Given the description of an element on the screen output the (x, y) to click on. 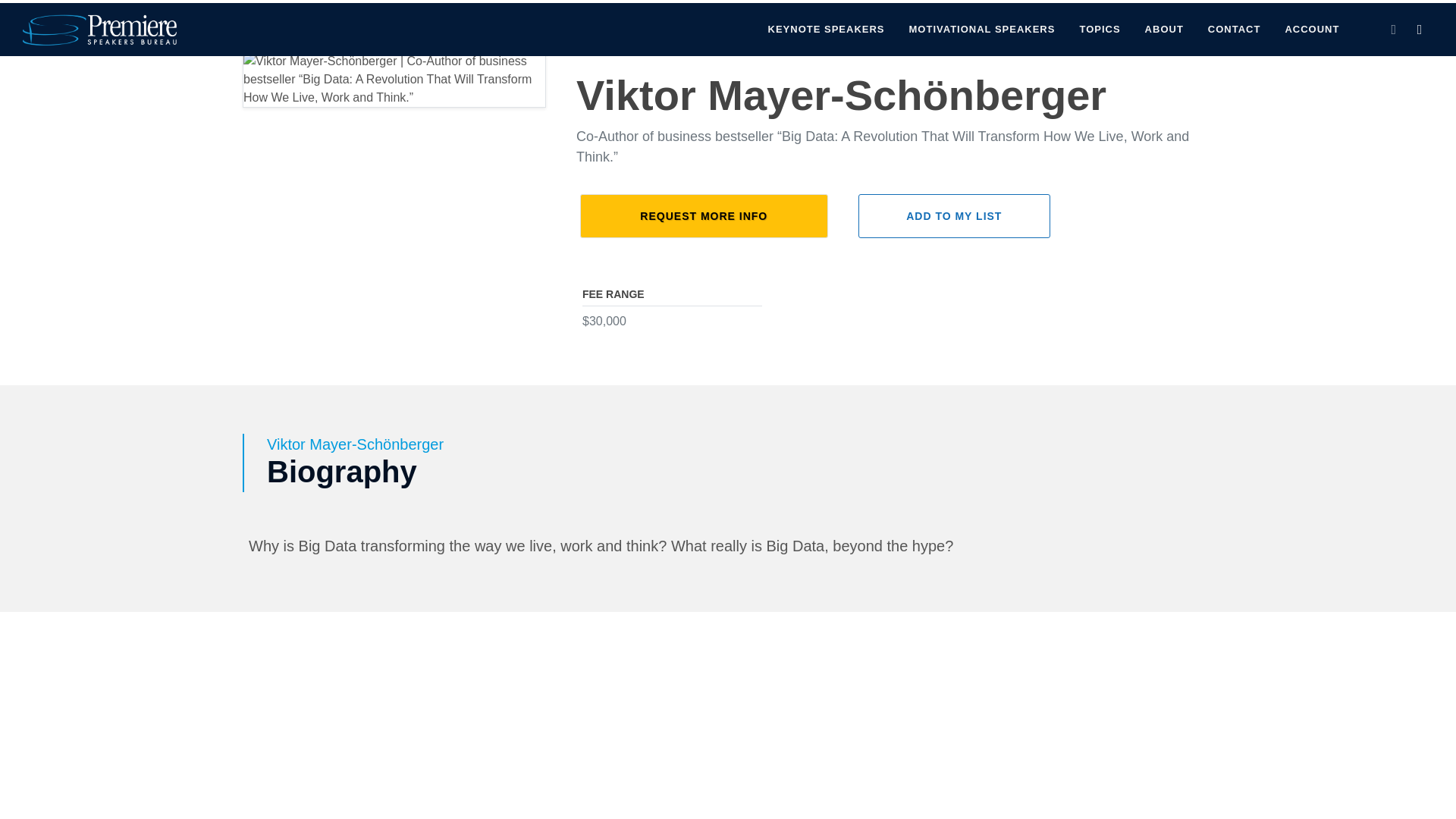
Keynotes (1329, 15)
Bio (1210, 15)
Overview (1152, 15)
TOPICS (1099, 29)
MOTIVATIONAL SPEAKERS (982, 29)
ACCOUNT (1311, 29)
REQUEST MORE INFO (703, 216)
KEYNOTE SPEAKERS (826, 29)
ABOUT (1164, 29)
Speakers Bureau (63, 12)
Videos (1263, 15)
Articles (1396, 15)
CONTACT (1234, 29)
